Given the description of an element on the screen output the (x, y) to click on. 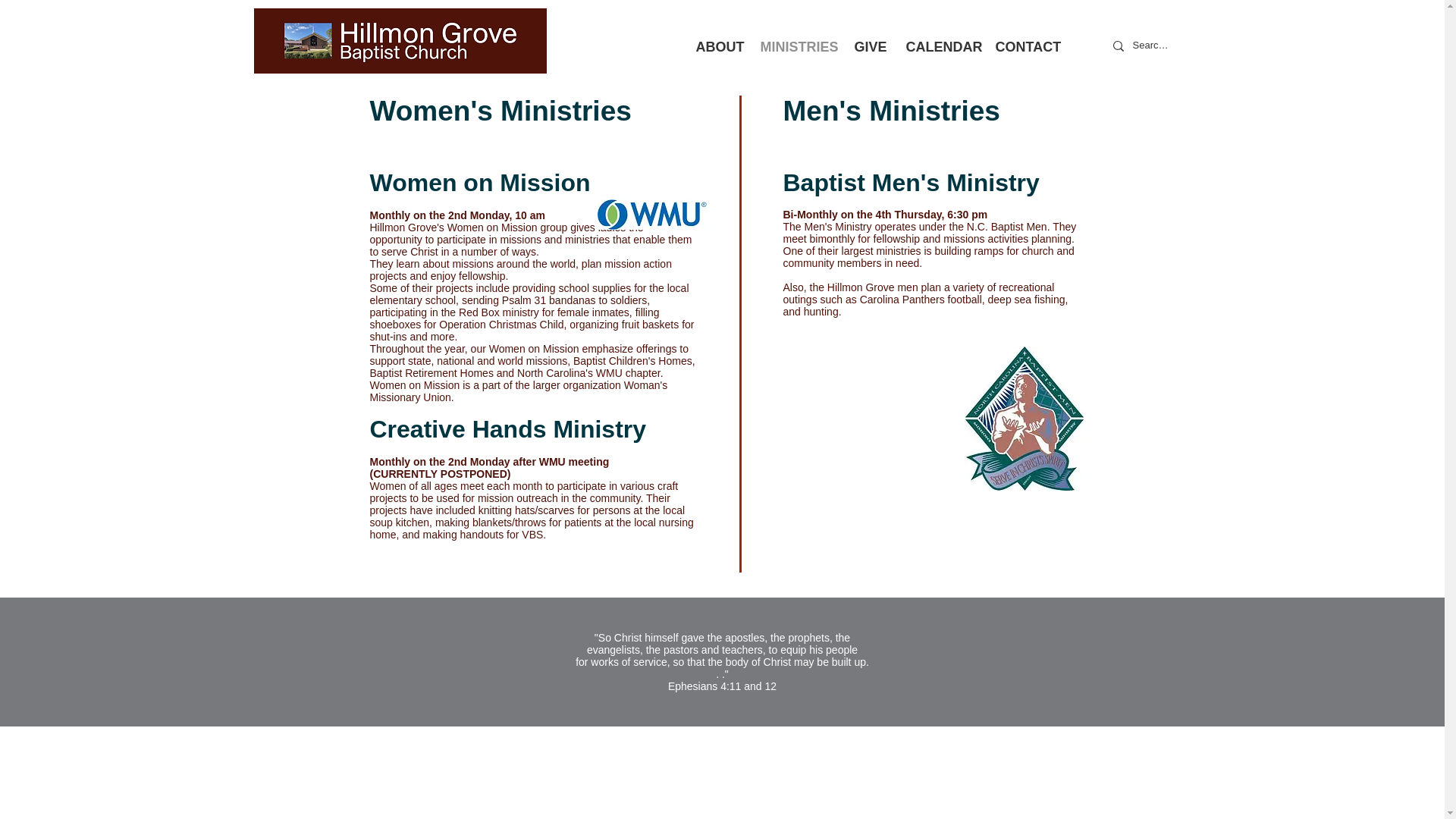
CONTACT (1024, 45)
ABOUT (716, 45)
GIVE (869, 45)
CALENDAR (939, 45)
MINISTRIES (796, 45)
Oct. 2017.jpg (399, 40)
